Given the description of an element on the screen output the (x, y) to click on. 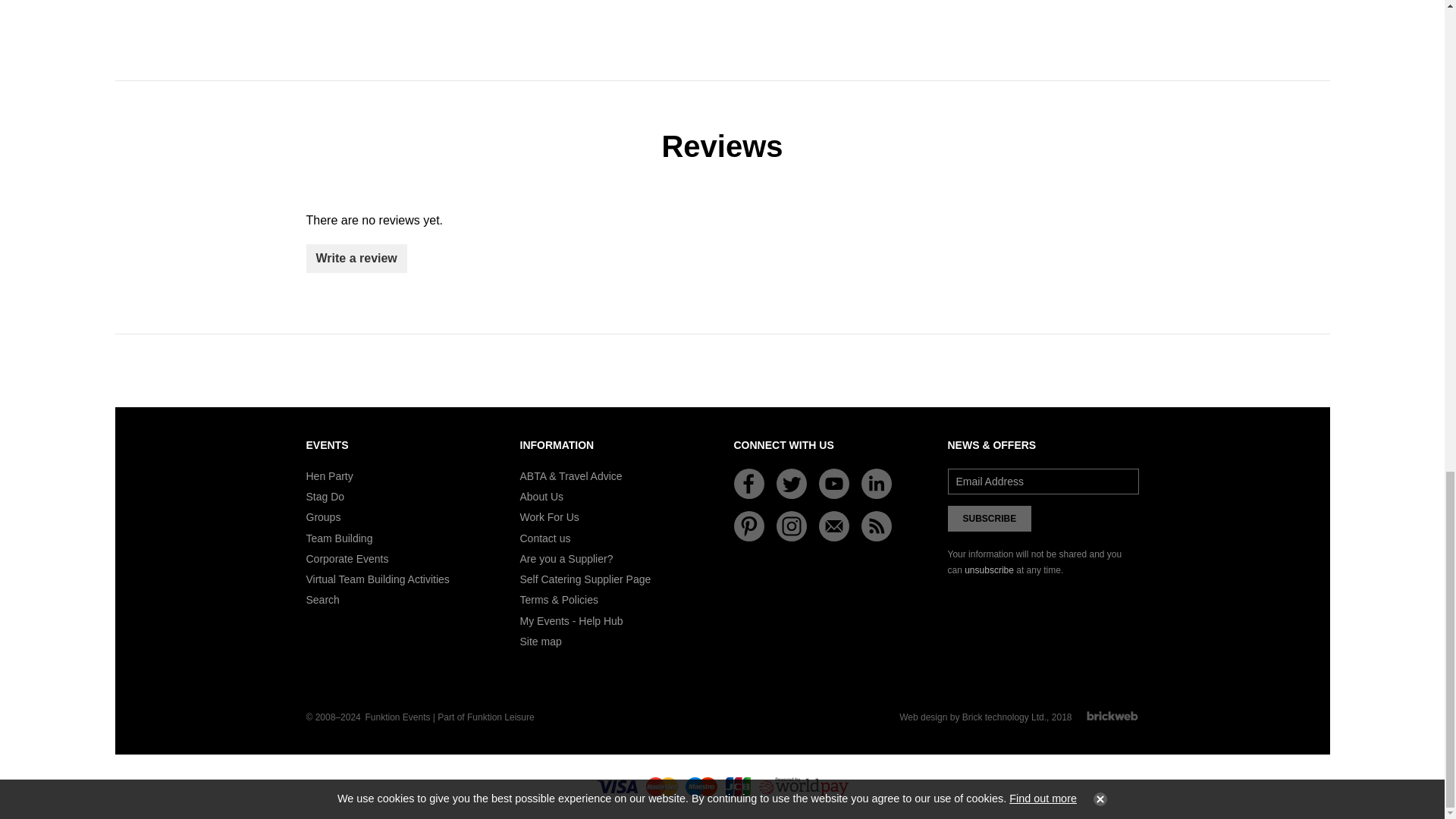
Subscribe (989, 518)
